Given the description of an element on the screen output the (x, y) to click on. 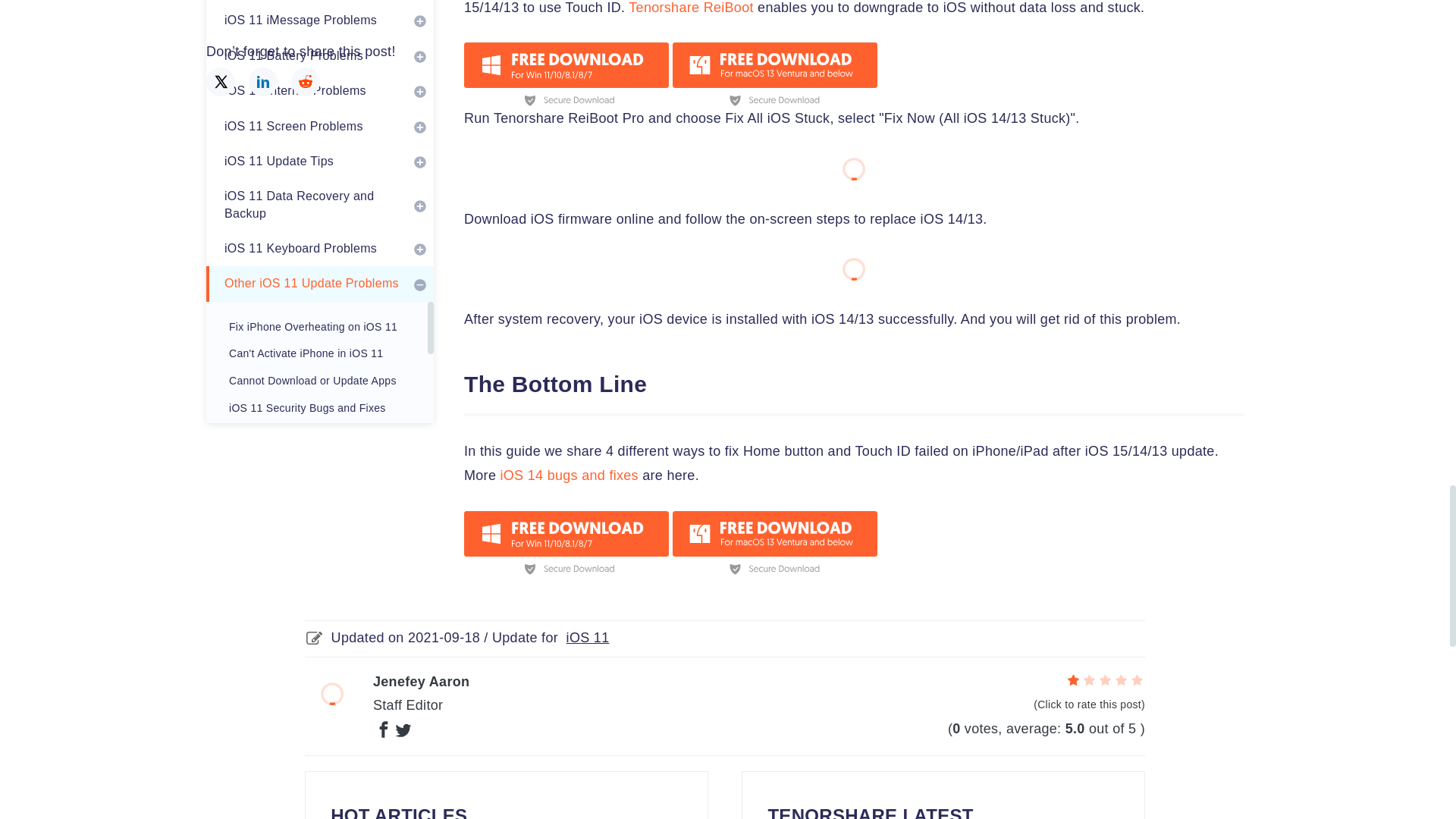
1 (1073, 679)
4 (1120, 679)
3 (1105, 679)
5 (1136, 679)
2 (1089, 679)
